Given the description of an element on the screen output the (x, y) to click on. 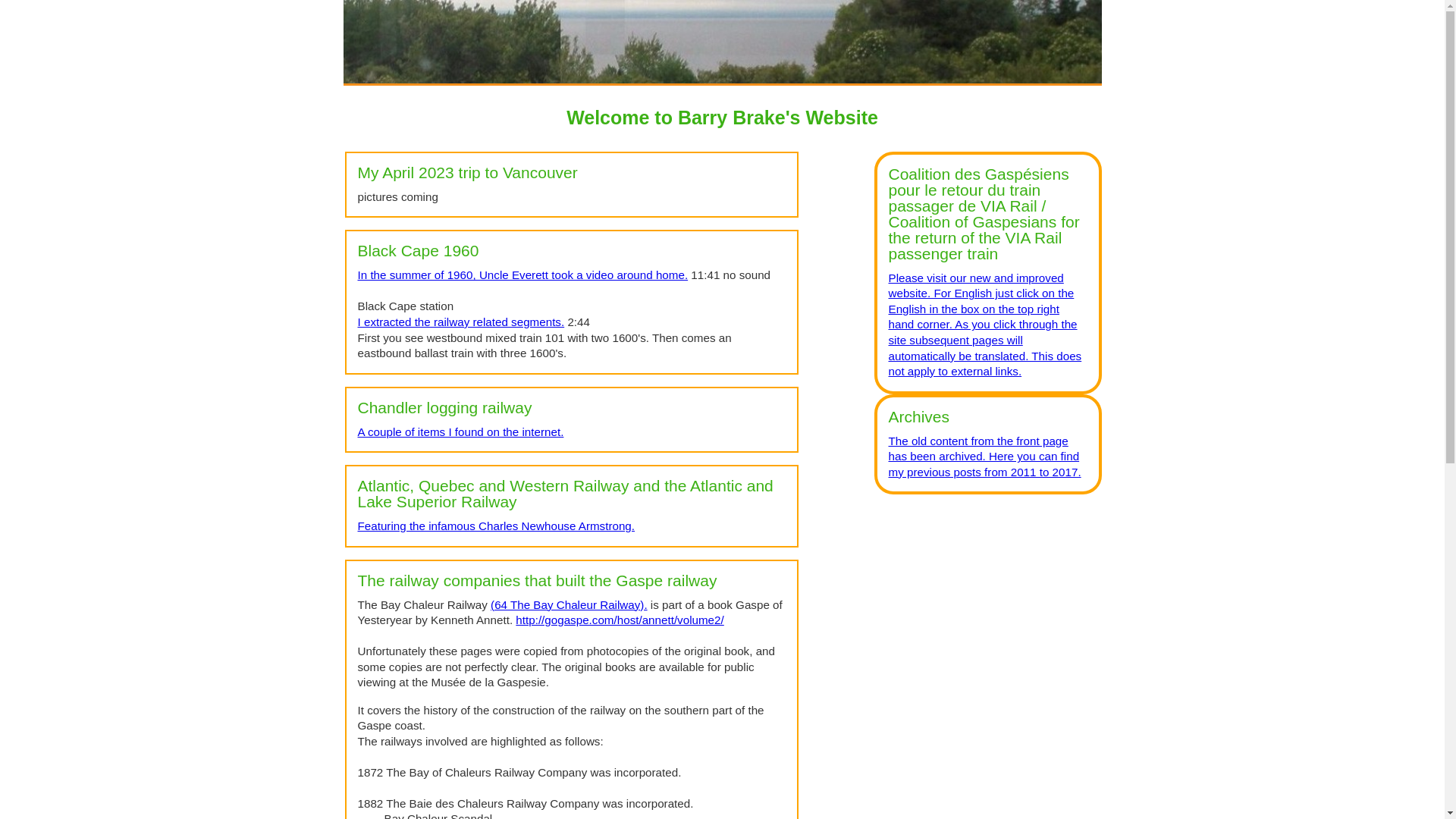
A couple of items I found on the internet. Element type: text (460, 431)
(64 The Bay Chaleur Railway). Element type: text (568, 604)
I extracted the railway related segments. Element type: text (460, 321)
http://gogaspe.com/host/annett/volume2/ Element type: text (619, 619)
Featuring the infamous Charles Newhouse Armstrong. Element type: text (496, 525)
